Given the description of an element on the screen output the (x, y) to click on. 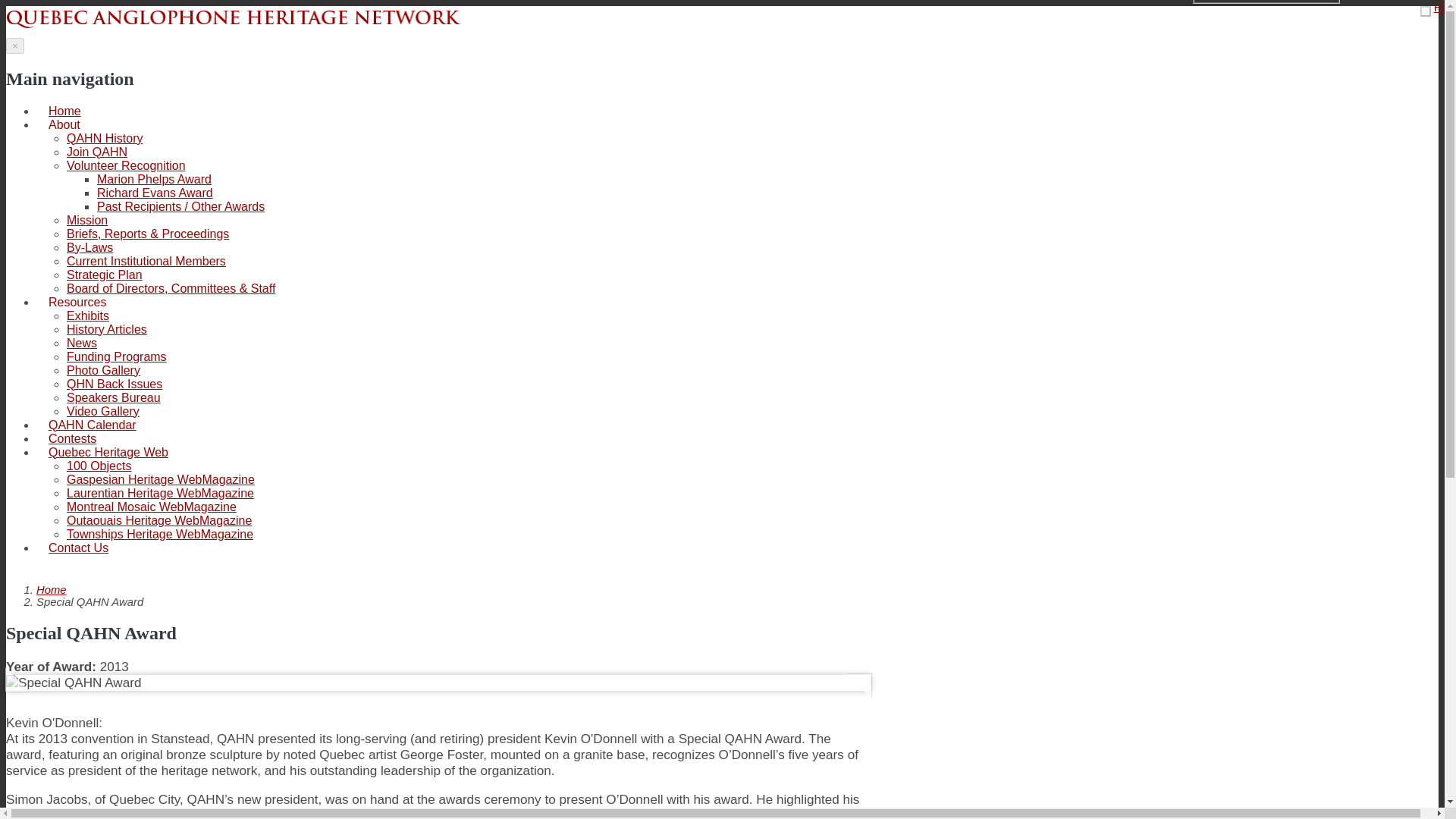
Marion Phelps Award (154, 178)
Photo Gallery (102, 369)
Gaspesian Heritage WebMagazine (160, 479)
History Articles (106, 328)
QAHN History (104, 137)
Outaouais Heritage WebMagazine (158, 520)
Laurentian Heritage WebMagazine (159, 492)
Join QAHN (97, 151)
100 Objects (98, 465)
Contact Us (78, 547)
Home (51, 589)
Montreal Mosaic WebMagazine (150, 506)
Strategic Plan (104, 274)
Exhibits (87, 315)
Townships Heritage WebMagazine (159, 533)
